Given the description of an element on the screen output the (x, y) to click on. 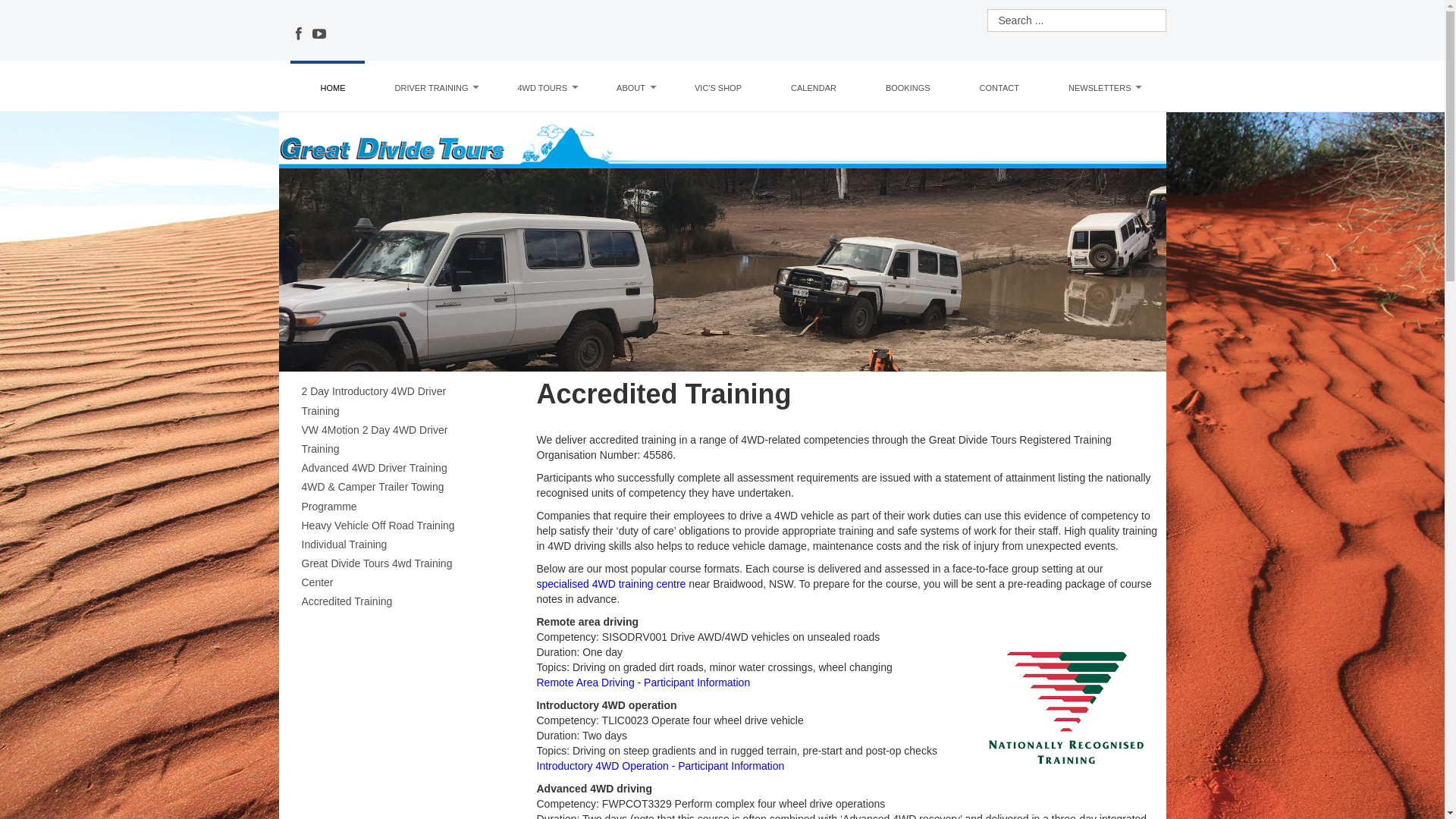
NEWSLETTERS Element type: text (1099, 87)
Advanced 4WD Driver Training Element type: text (392, 467)
CALENDAR Element type: text (813, 87)
VIC'S SHOP Element type: text (718, 87)
Accredited Training Element type: text (392, 601)
Introductory 4WD Operation - Participant Information Element type: text (660, 765)
HOME Element type: text (333, 87)
Great Divide Tours 4wd Training Center Element type: text (392, 573)
Individual Training Element type: text (392, 544)
CONTACT Element type: text (999, 87)
Remote Area Driving - Participant Information Element type: text (643, 682)
4WD TOURS Element type: text (541, 87)
VW 4Motion 2 Day 4WD Driver Training Element type: text (392, 439)
DRIVER TRAINING Element type: text (431, 87)
4WD & Camper Trailer Towing Programme Element type: text (392, 496)
BOOKINGS Element type: text (907, 87)
ABOUT Element type: text (630, 87)
2 Day Introductory 4WD Driver Training Element type: text (392, 401)
specialised 4WD training centre Element type: text (611, 583)
Heavy Vehicle Off Road Training Element type: text (392, 525)
